Given the description of an element on the screen output the (x, y) to click on. 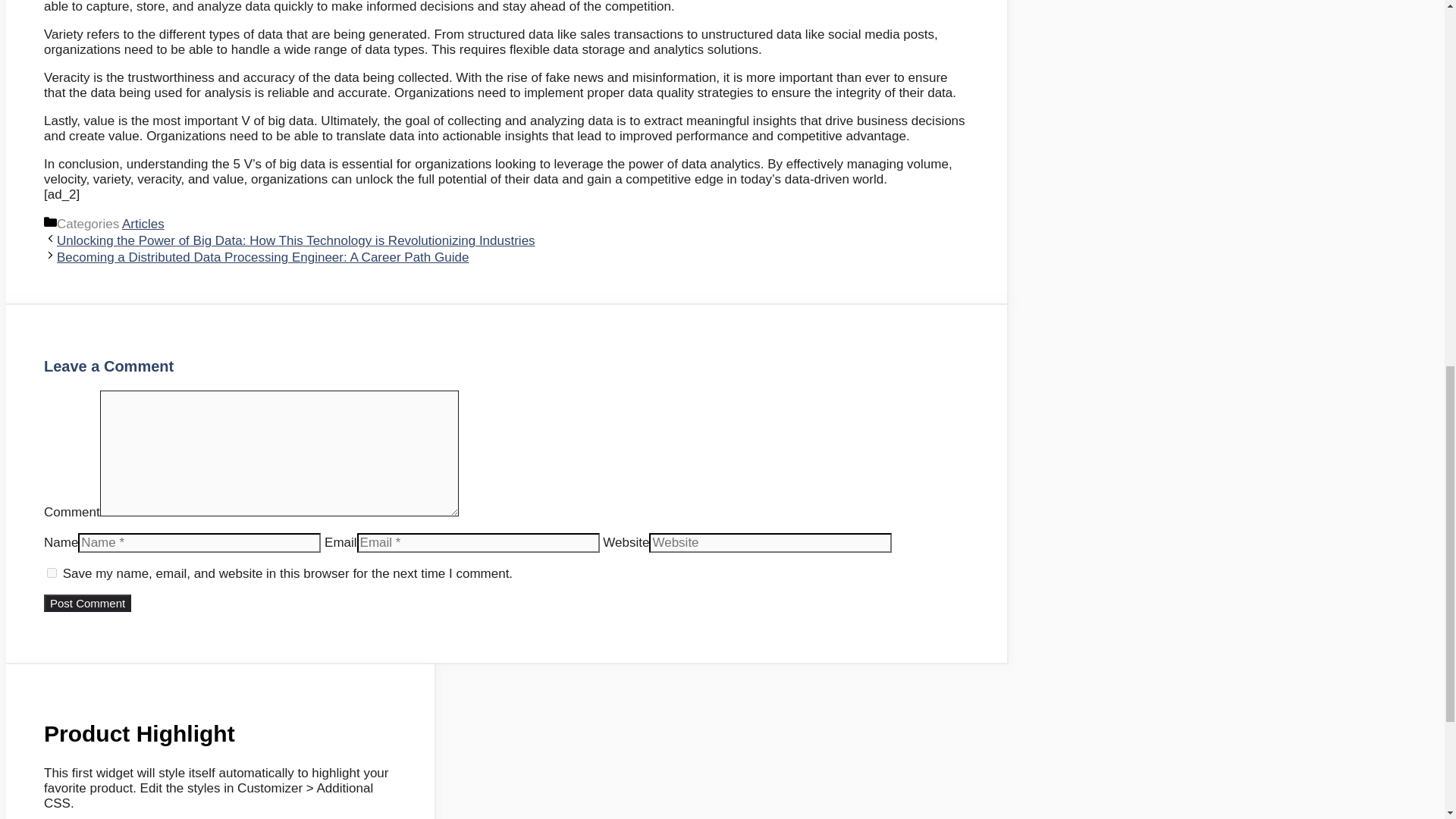
Articles (143, 223)
Post Comment (87, 602)
Post Comment (87, 602)
yes (51, 573)
